Given the description of an element on the screen output the (x, y) to click on. 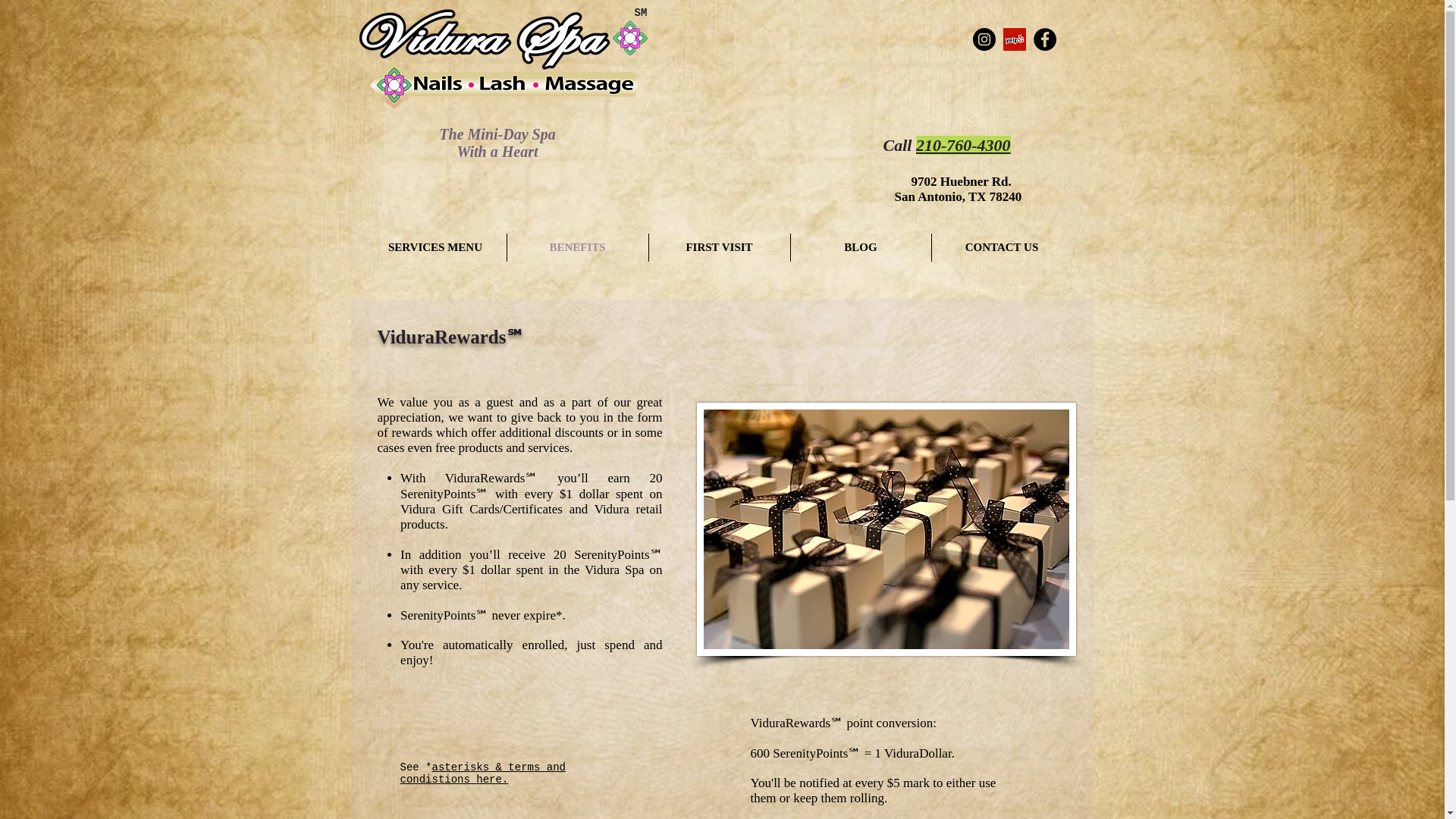
FIRST VISIT (719, 247)
BENEFITS (576, 247)
SERVICES MENU (434, 247)
CONTACT US (1001, 247)
BLOG (860, 247)
